Given the description of an element on the screen output the (x, y) to click on. 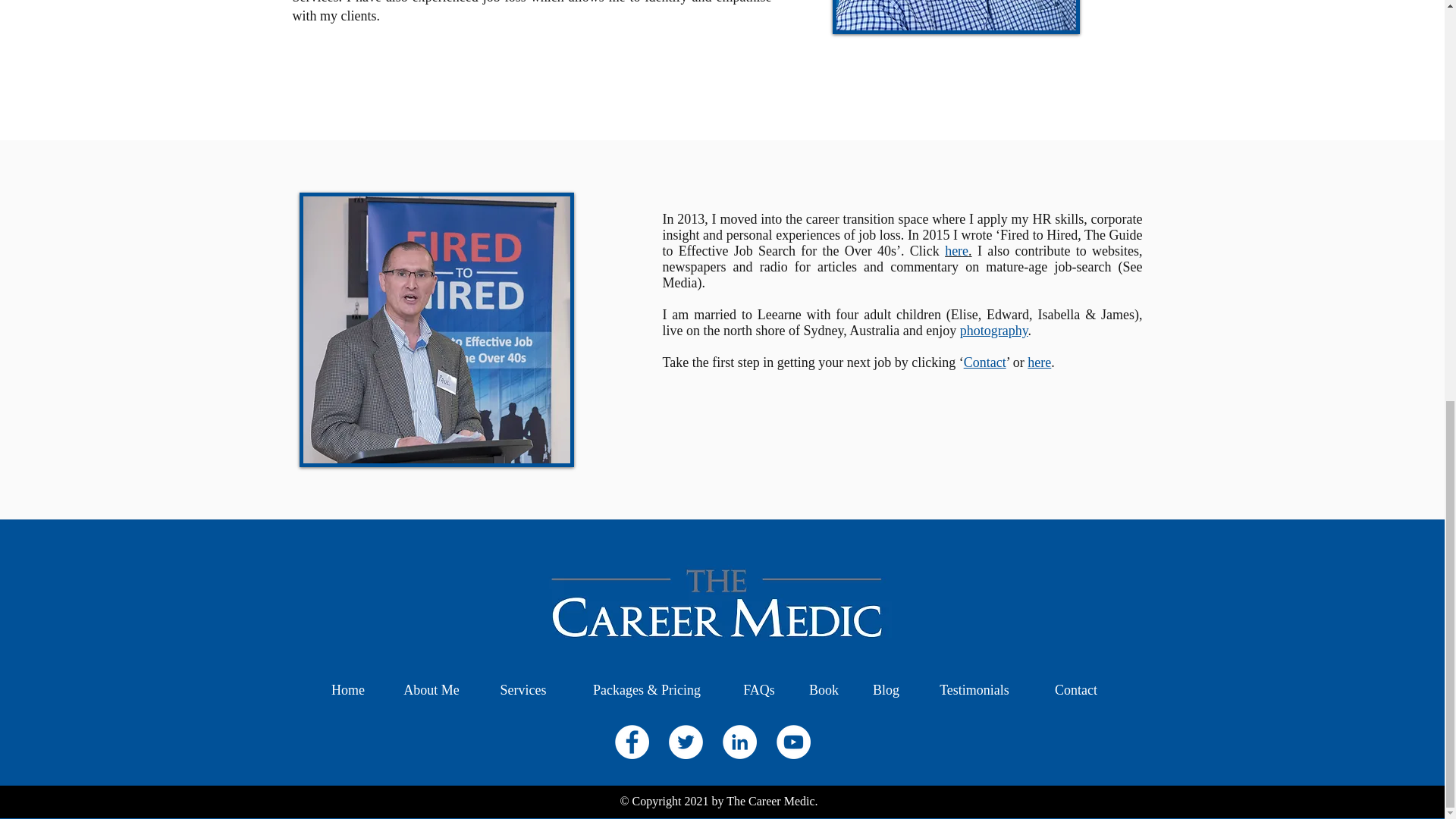
here. (957, 250)
About Me (431, 689)
Home (347, 689)
Contact (984, 362)
Testimonials (973, 689)
Book (824, 689)
FAQs (759, 689)
photography (993, 330)
here (1039, 362)
Services (523, 689)
